Given the description of an element on the screen output the (x, y) to click on. 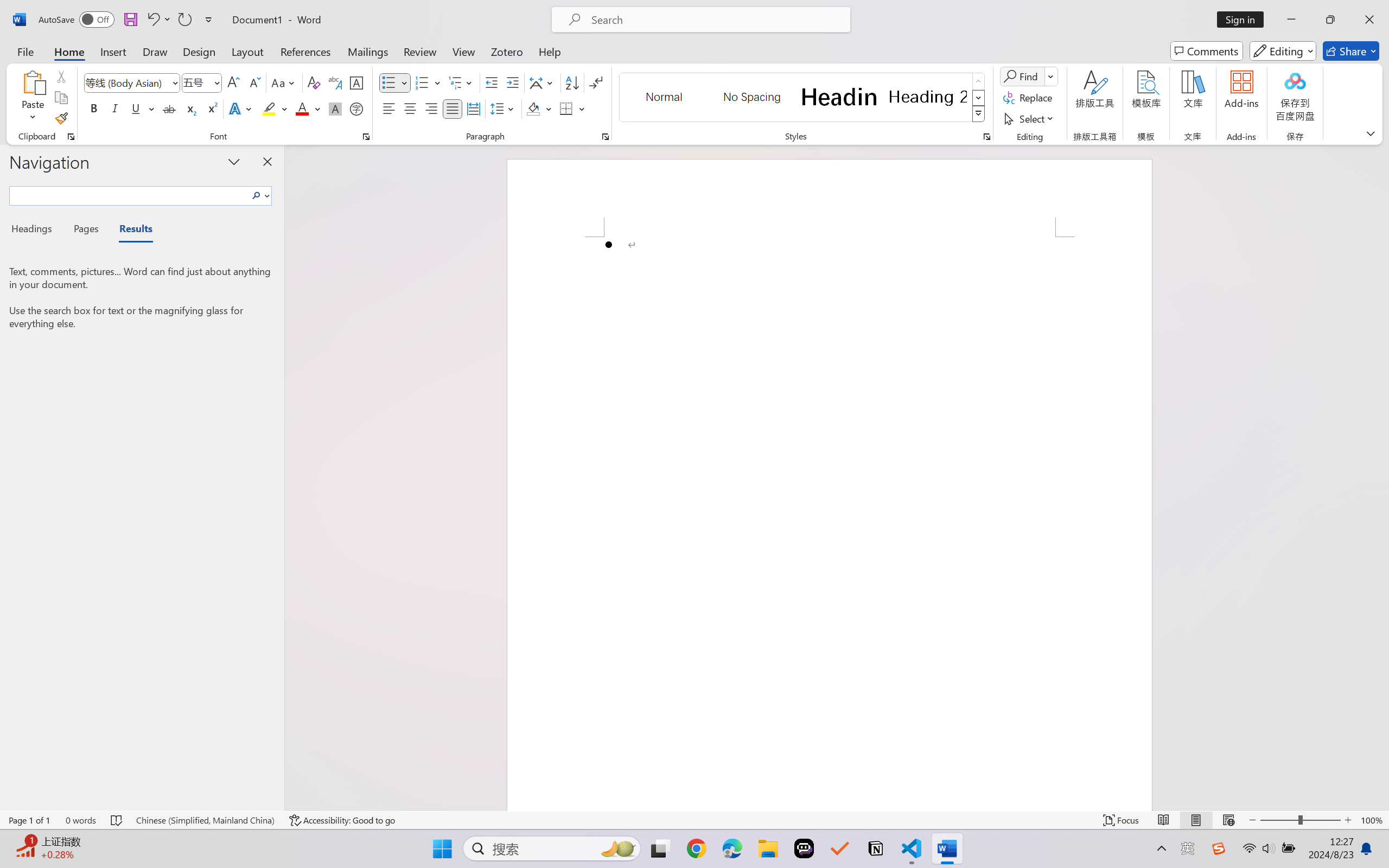
Headings (35, 229)
